Given the description of an element on the screen output the (x, y) to click on. 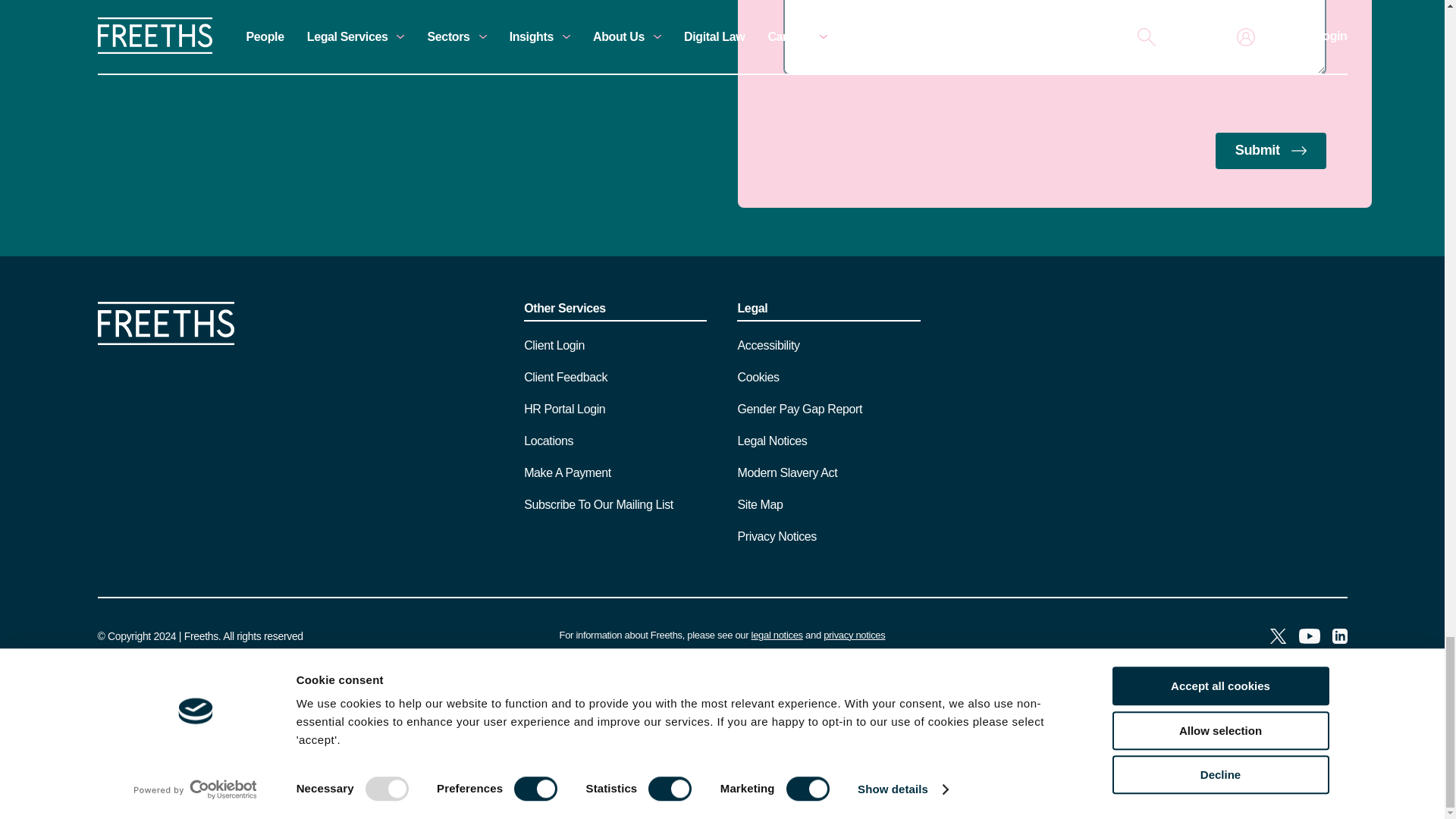
Home (164, 340)
